Given the description of an element on the screen output the (x, y) to click on. 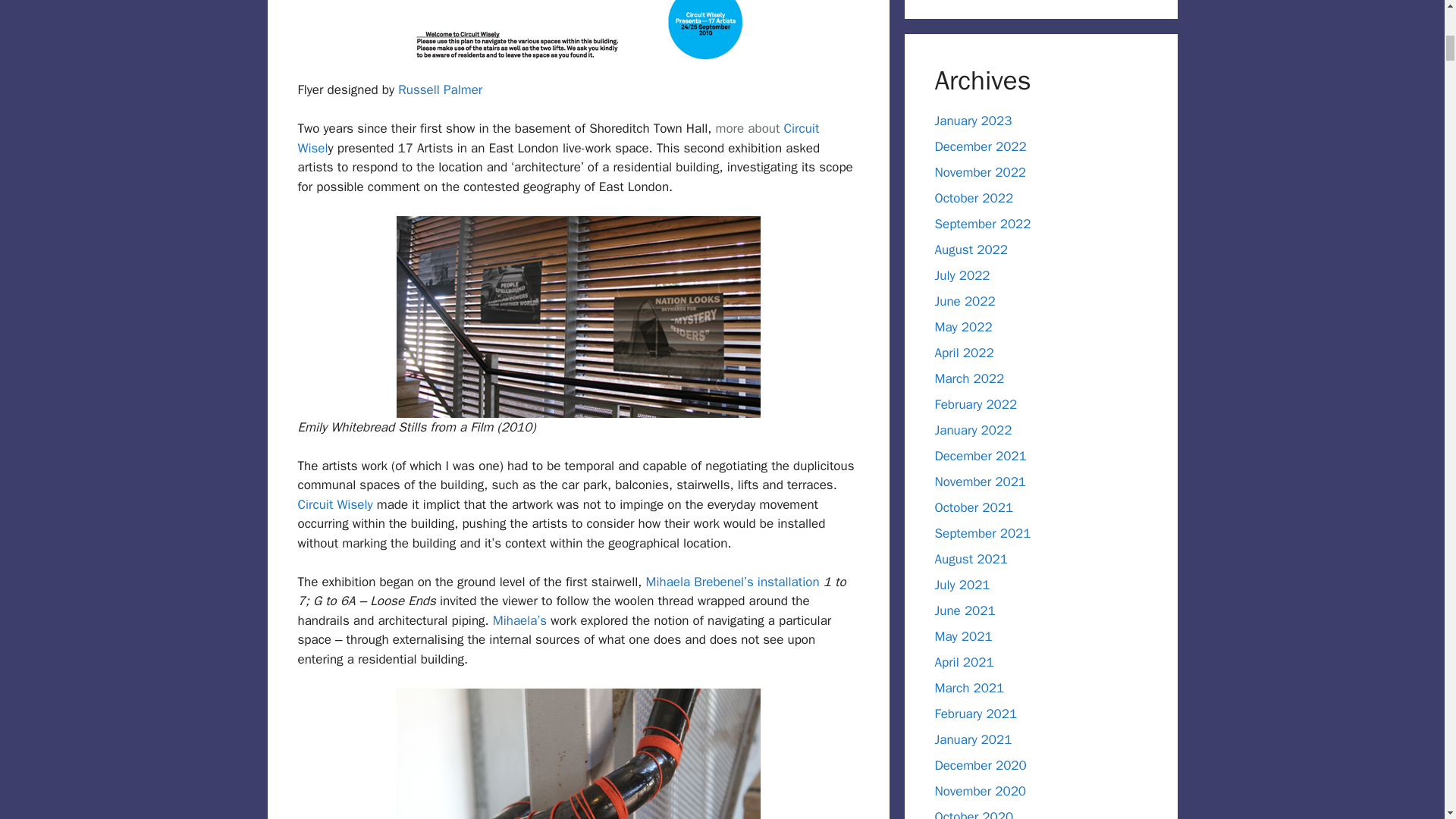
Circuit Wisel (557, 138)
Russell Palmer (439, 89)
Circuit Wisely (334, 504)
ed (748, 128)
more about (748, 128)
